Given the description of an element on the screen output the (x, y) to click on. 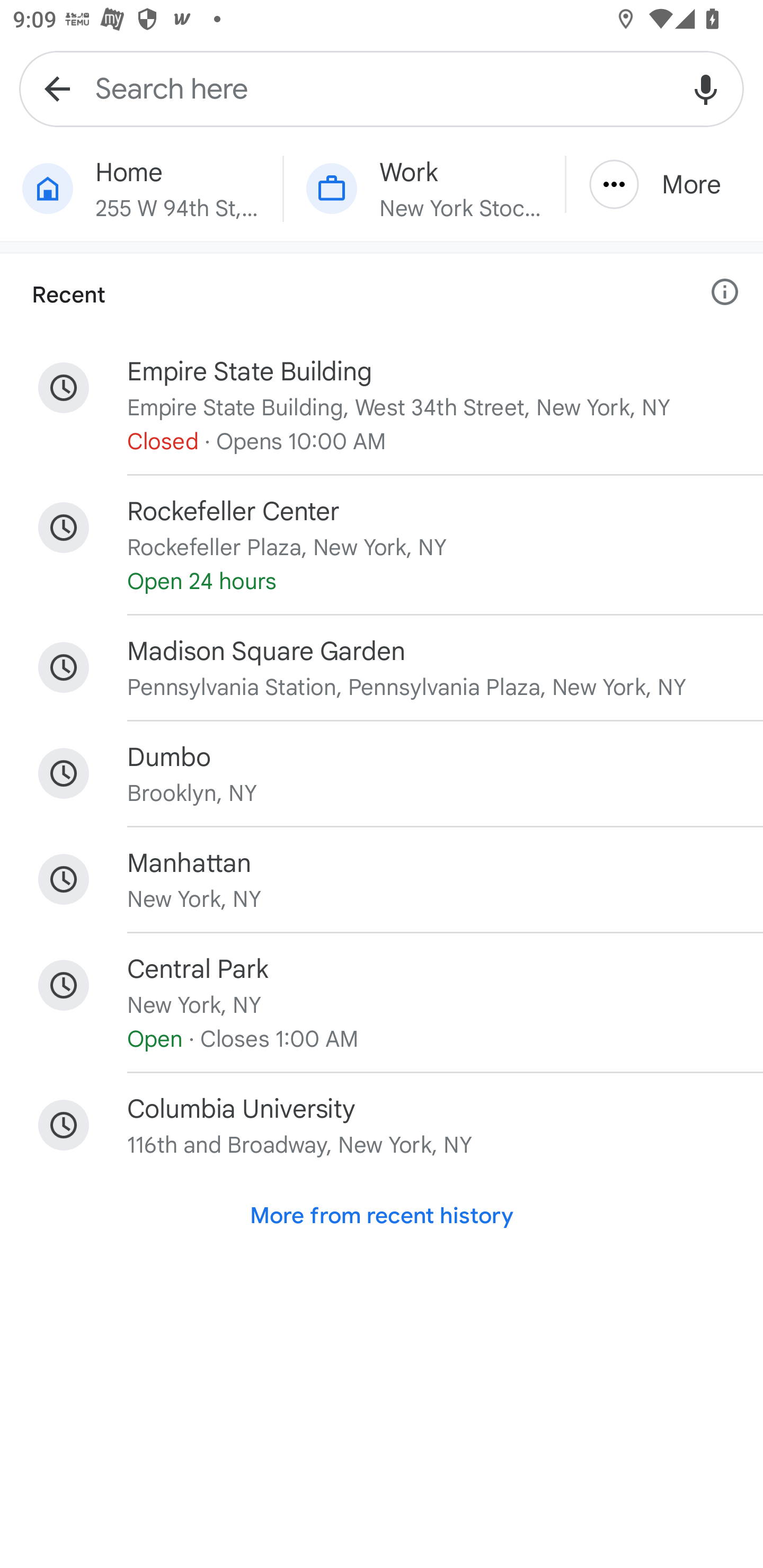
Navigate up (57, 88)
Search here (381, 88)
Voice search (705, 88)
More (664, 184)
Dumbo Brooklyn, NY (381, 773)
Manhattan New York, NY (381, 879)
Central Park New York, NY Open · Closes 1:00 AM (381, 1001)
More from recent history (381, 1215)
